Given the description of an element on the screen output the (x, y) to click on. 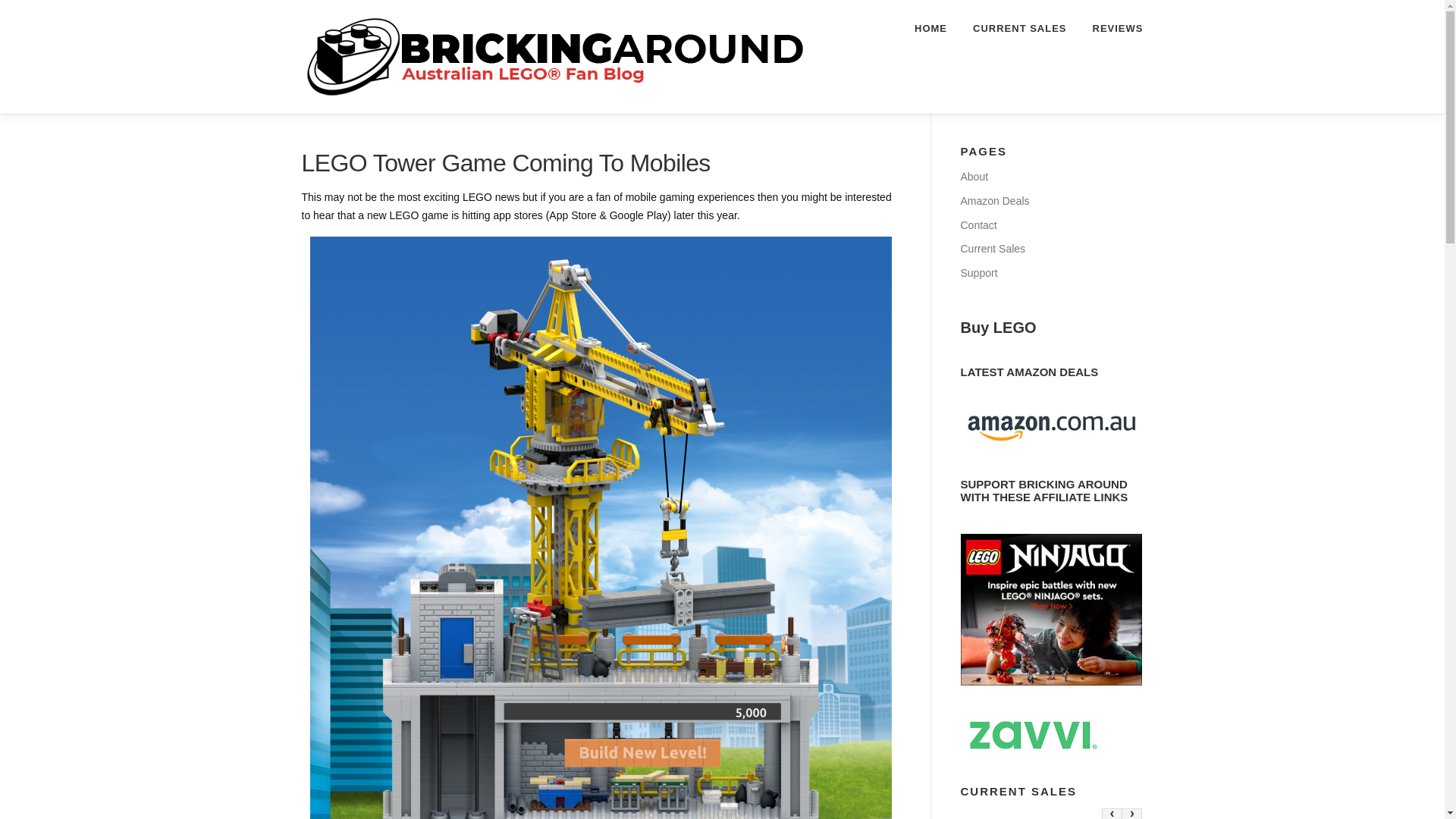
Contact (977, 224)
HOME (930, 28)
REVIEWS (1111, 28)
Current Sales (992, 248)
CURRENT SALES (1019, 28)
Support (978, 272)
About (973, 176)
Amazon Deals (994, 200)
